Given the description of an element on the screen output the (x, y) to click on. 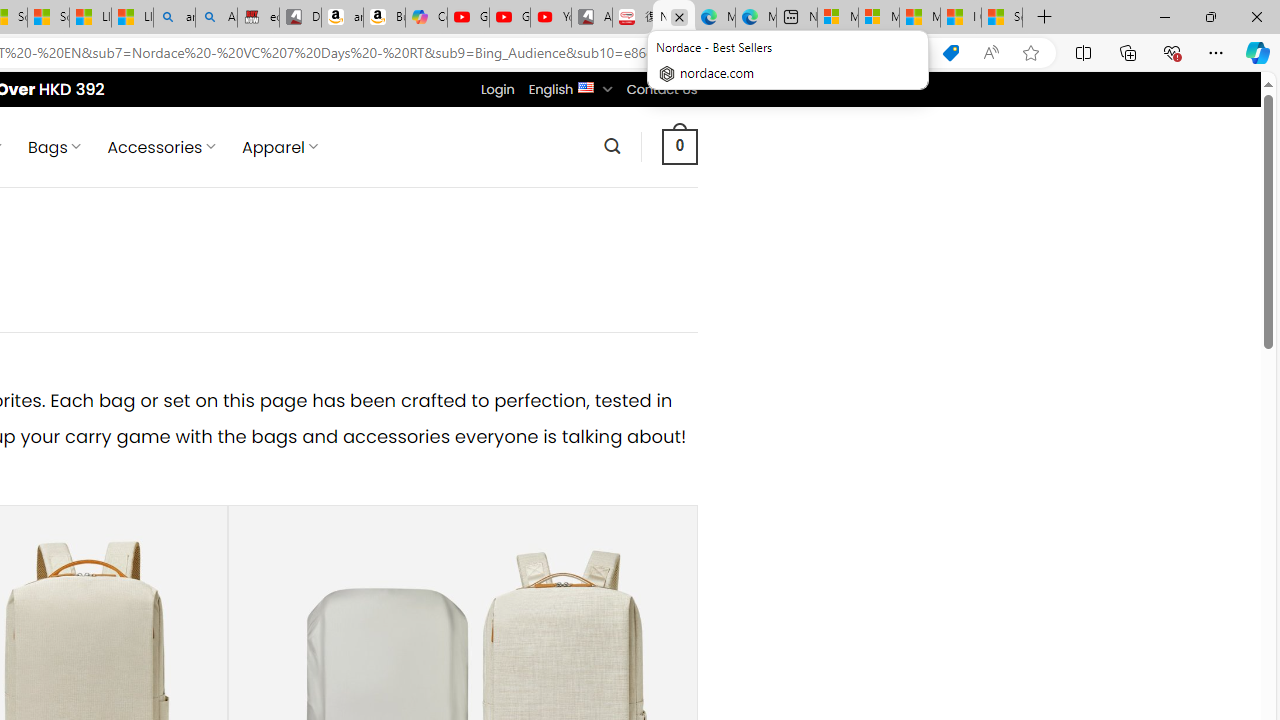
Minimize (1164, 16)
Login (497, 89)
Microsoft account | Privacy (878, 17)
Read aloud this page (Ctrl+Shift+U) (991, 53)
Close (1256, 16)
